Given the description of an element on the screen output the (x, y) to click on. 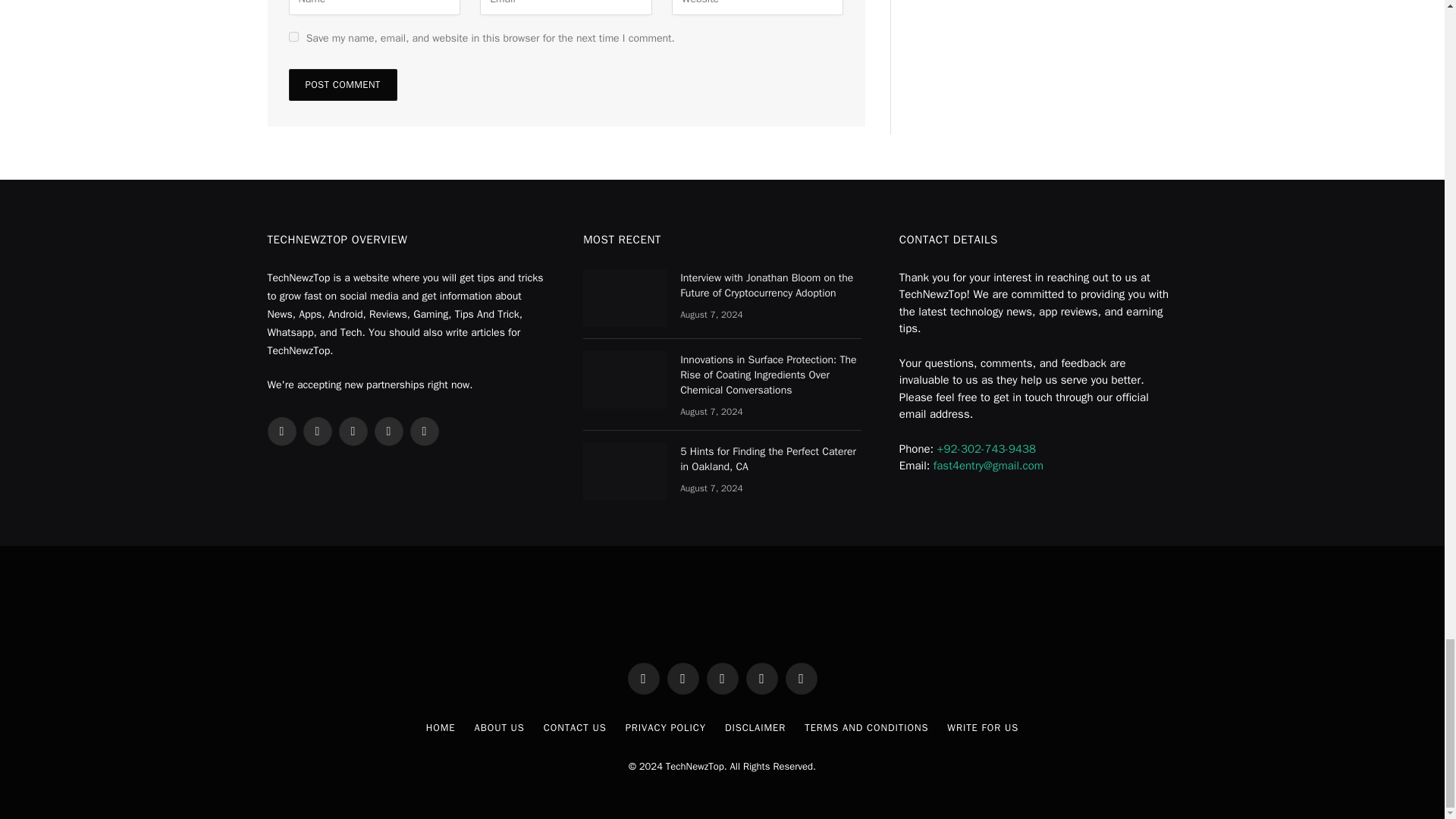
yes (293, 36)
Post Comment (342, 84)
